Given the description of an element on the screen output the (x, y) to click on. 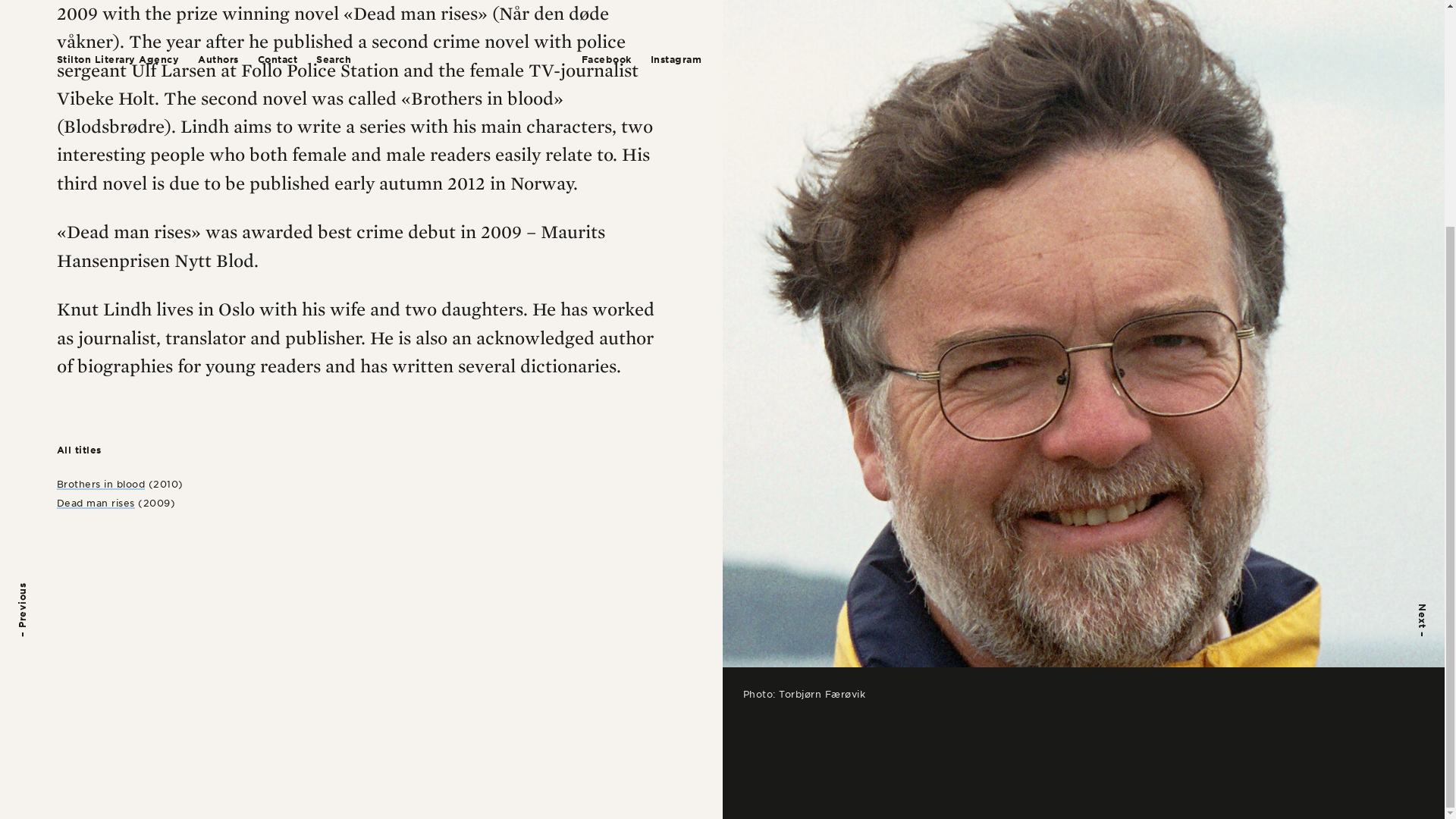
Brothers in blood (100, 483)
Dead man rises (95, 502)
